Given the description of an element on the screen output the (x, y) to click on. 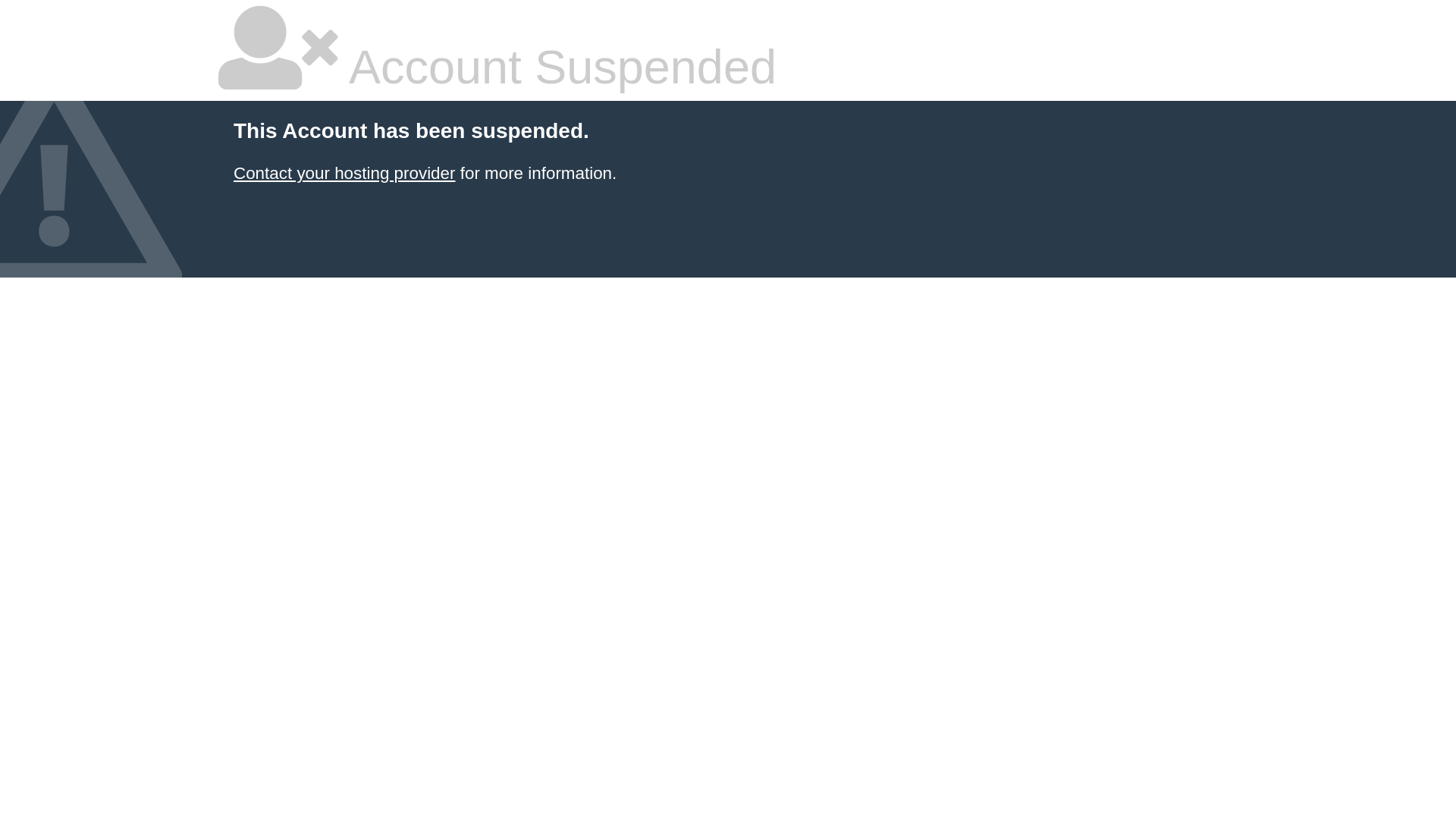
Contact your hosting provider Element type: text (344, 172)
